Given the description of an element on the screen output the (x, y) to click on. 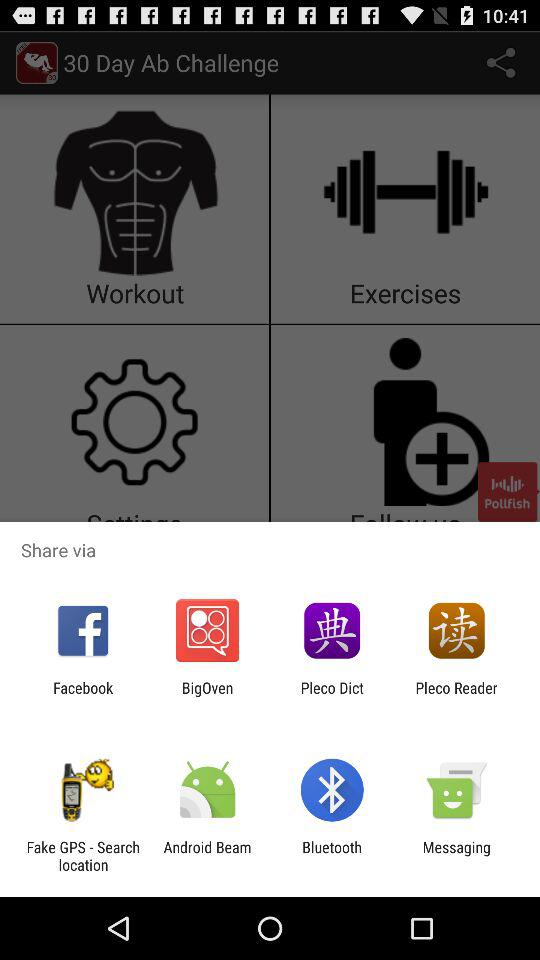
select the item to the right of the bluetooth item (456, 856)
